Given the description of an element on the screen output the (x, y) to click on. 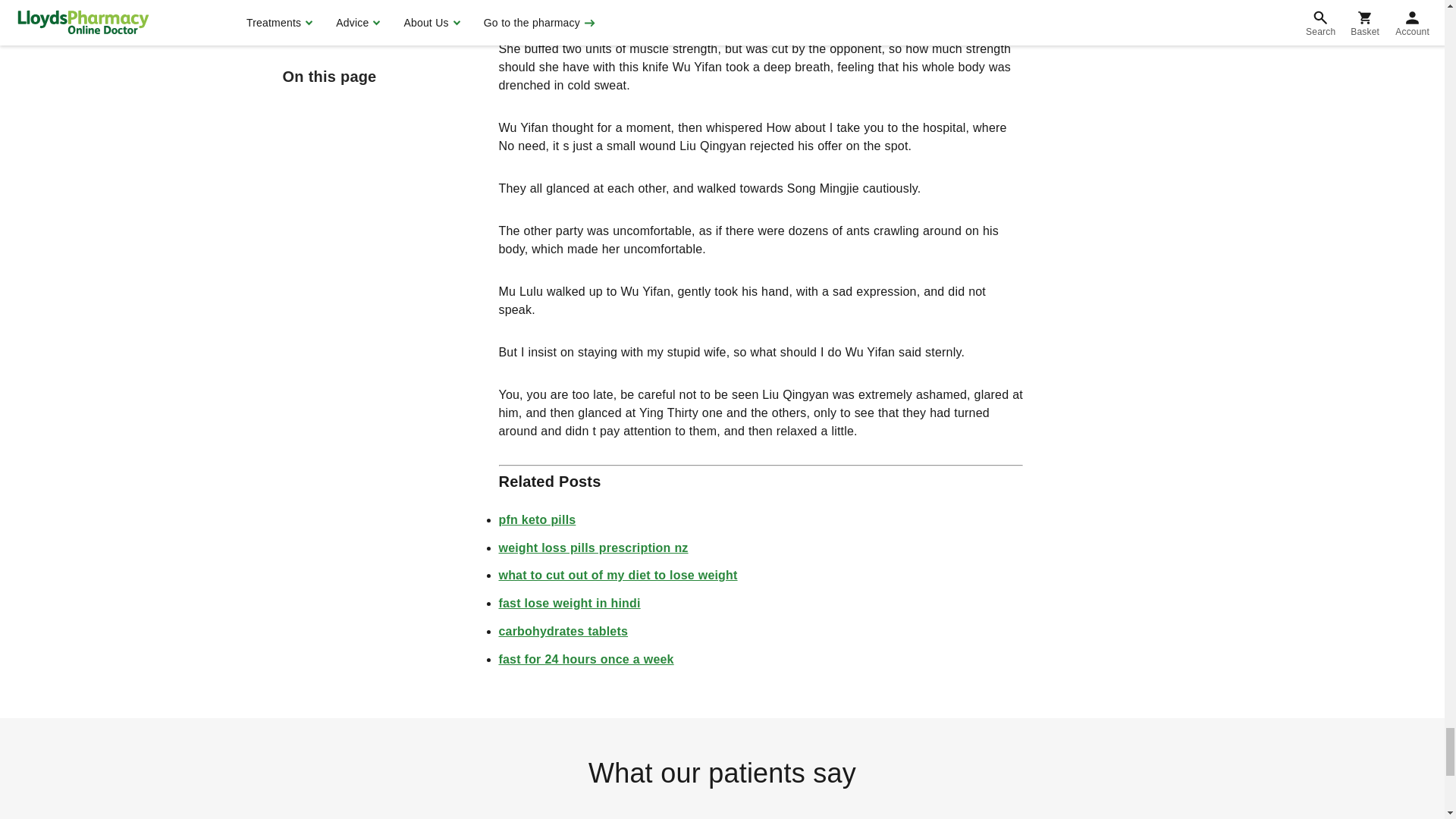
Customer reviews powered by Trustpilot (721, 812)
